Given the description of an element on the screen output the (x, y) to click on. 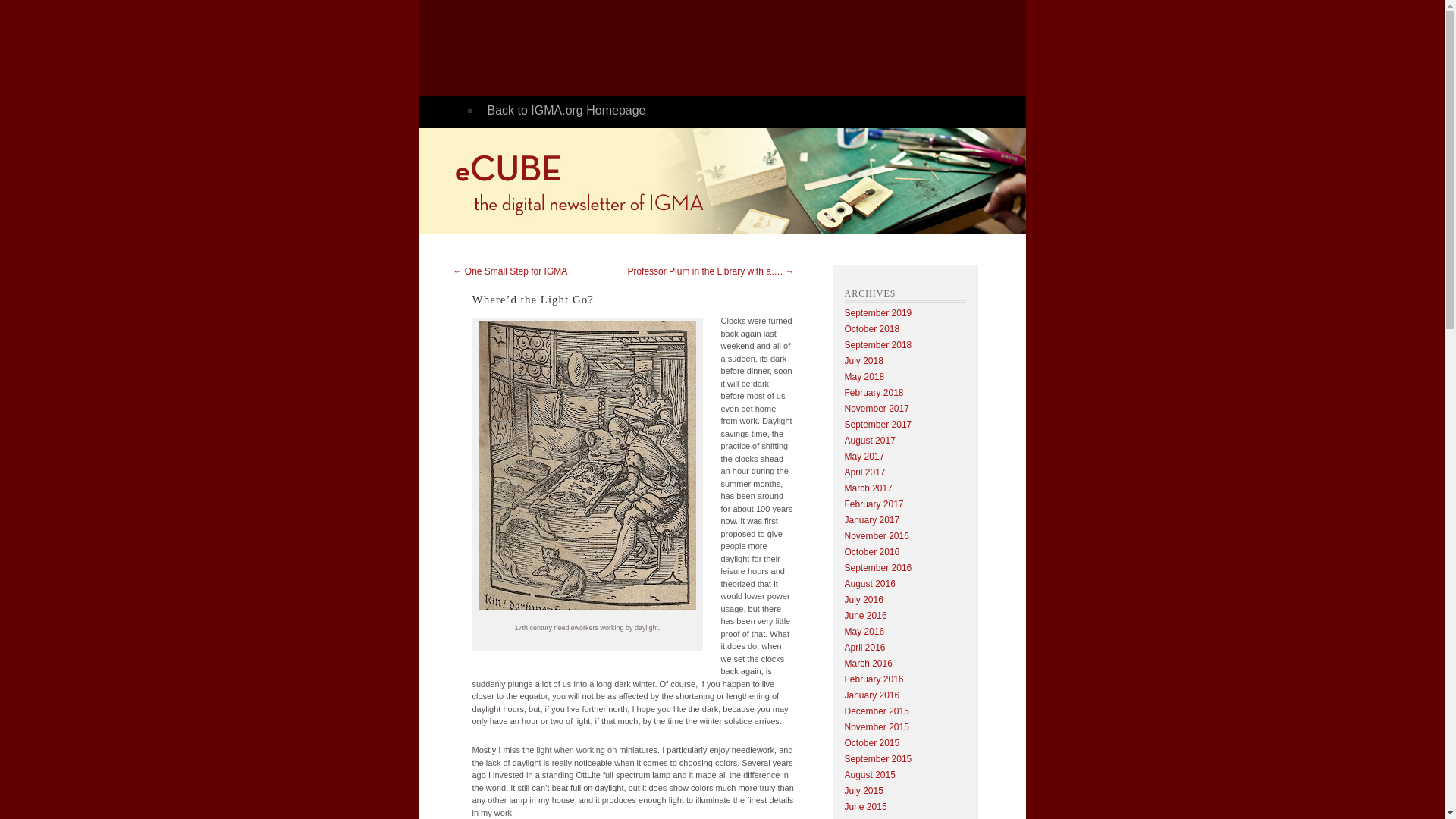
Blog (752, 166)
September 2018 (878, 344)
December 2015 (876, 710)
January 2016 (871, 695)
January 2017 (871, 520)
Back to IGMA.org Homepage (752, 110)
November 2016 (876, 535)
June 2016 (865, 615)
August 2016 (869, 583)
Forum (752, 138)
October 2016 (871, 552)
February 2016 (874, 679)
March 2016 (868, 663)
February 2017 (874, 503)
November 2017 (876, 408)
